Given the description of an element on the screen output the (x, y) to click on. 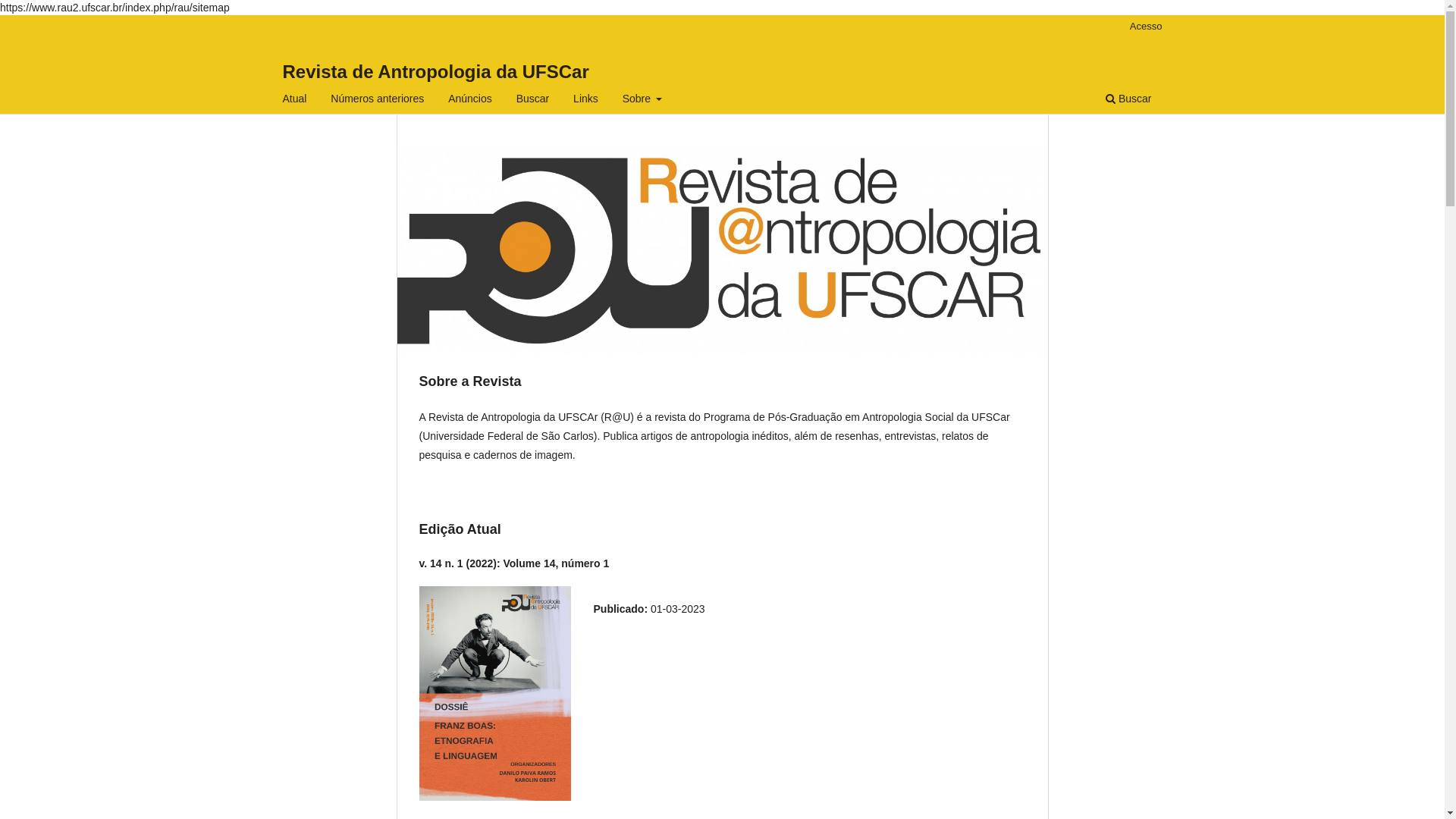
Buscar Element type: text (533, 100)
Revista de Antropologia da UFSCar Element type: text (435, 71)
Sobre Element type: text (642, 100)
Atual Element type: text (294, 100)
Buscar Element type: text (1128, 100)
Links Element type: text (585, 100)
Acesso Element type: text (1146, 26)
